Given the description of an element on the screen output the (x, y) to click on. 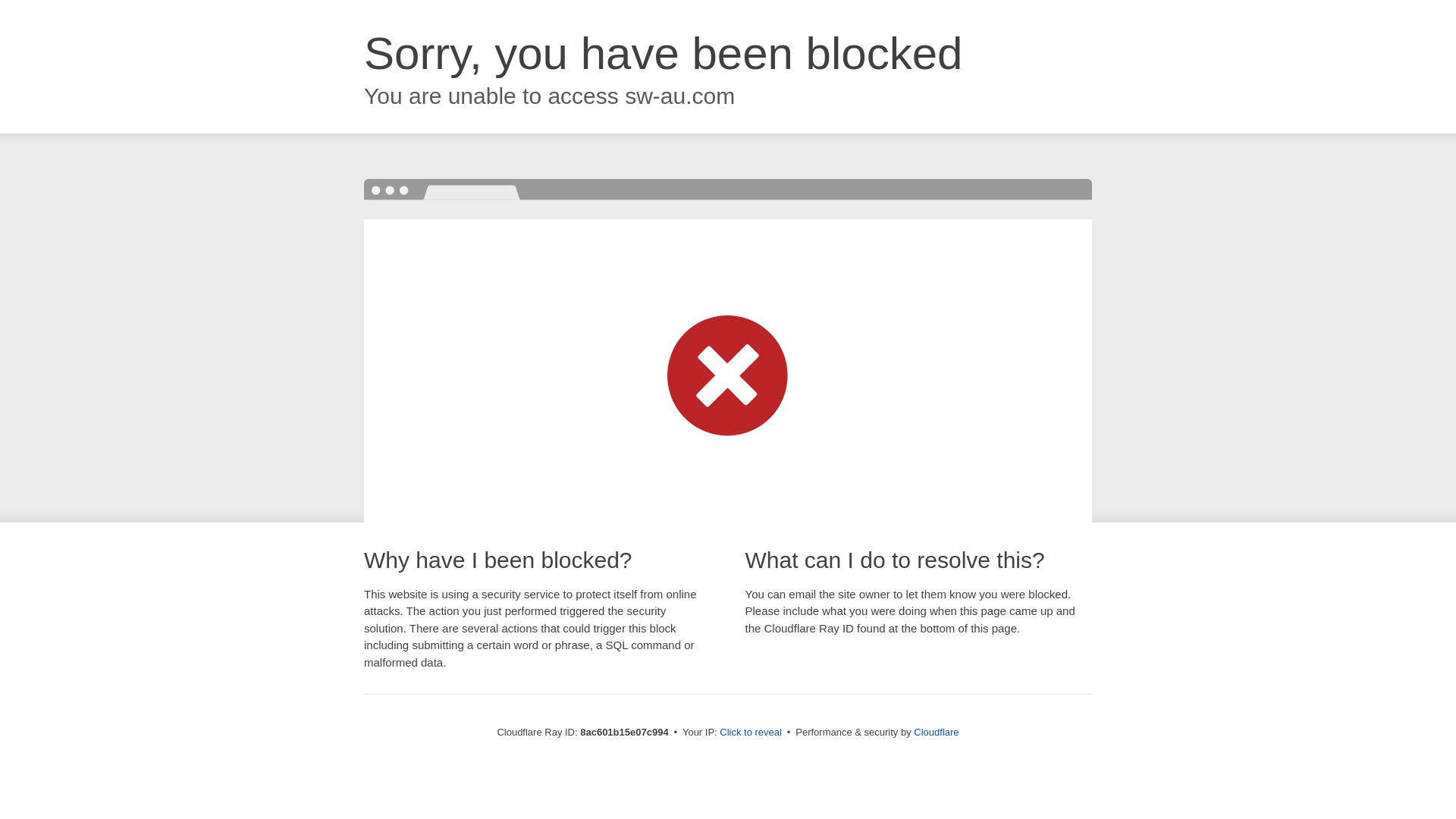
Click to reveal (750, 732)
Cloudflare (936, 731)
